Given the description of an element on the screen output the (x, y) to click on. 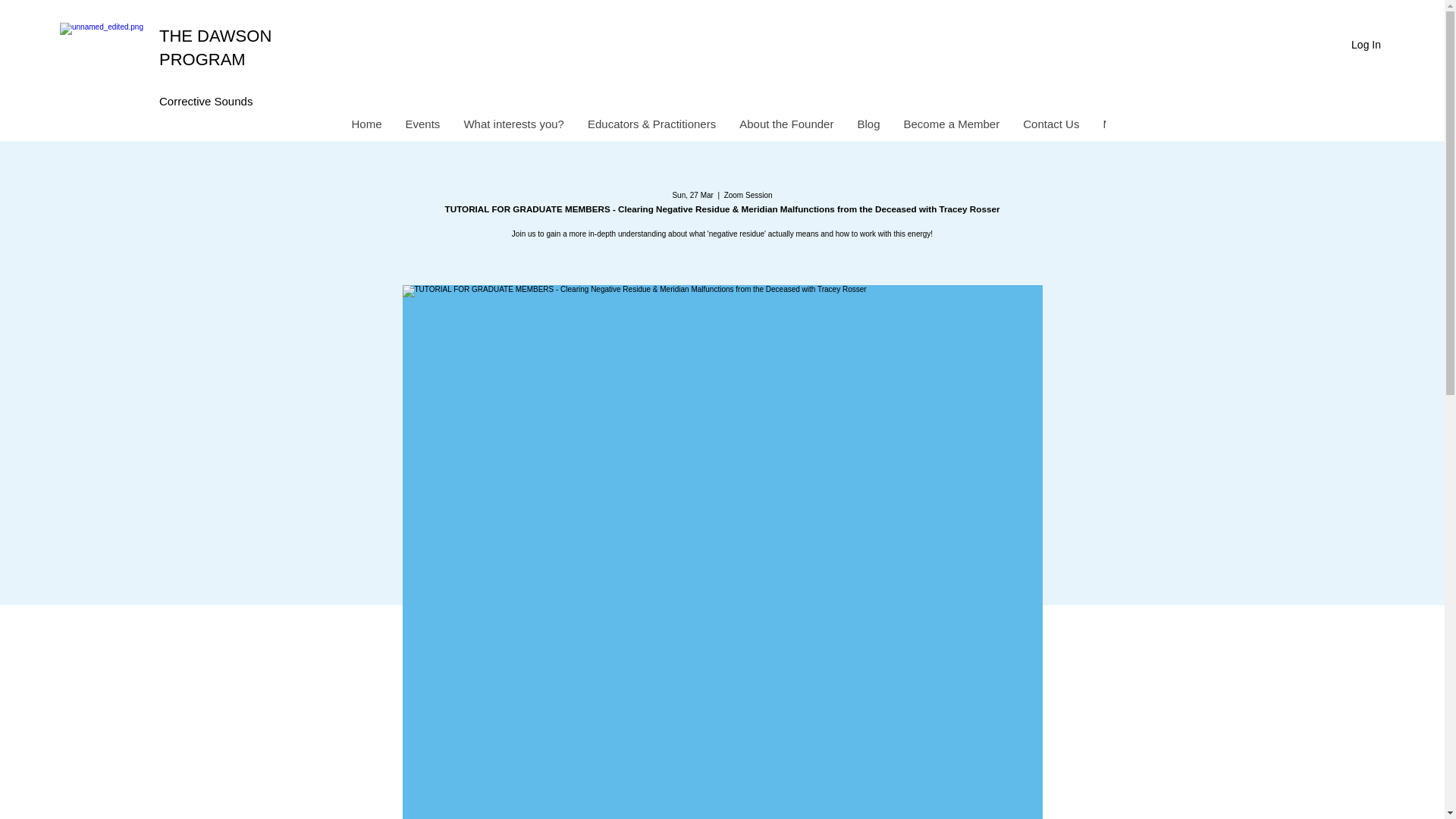
Become a Member (950, 128)
Home (366, 128)
Events (422, 128)
THE DAWSON PROGRAM (214, 47)
Blog (867, 128)
What interests you? (513, 128)
About the Founder (785, 128)
Contact Us (1050, 128)
Log In (1365, 44)
